Given the description of an element on the screen output the (x, y) to click on. 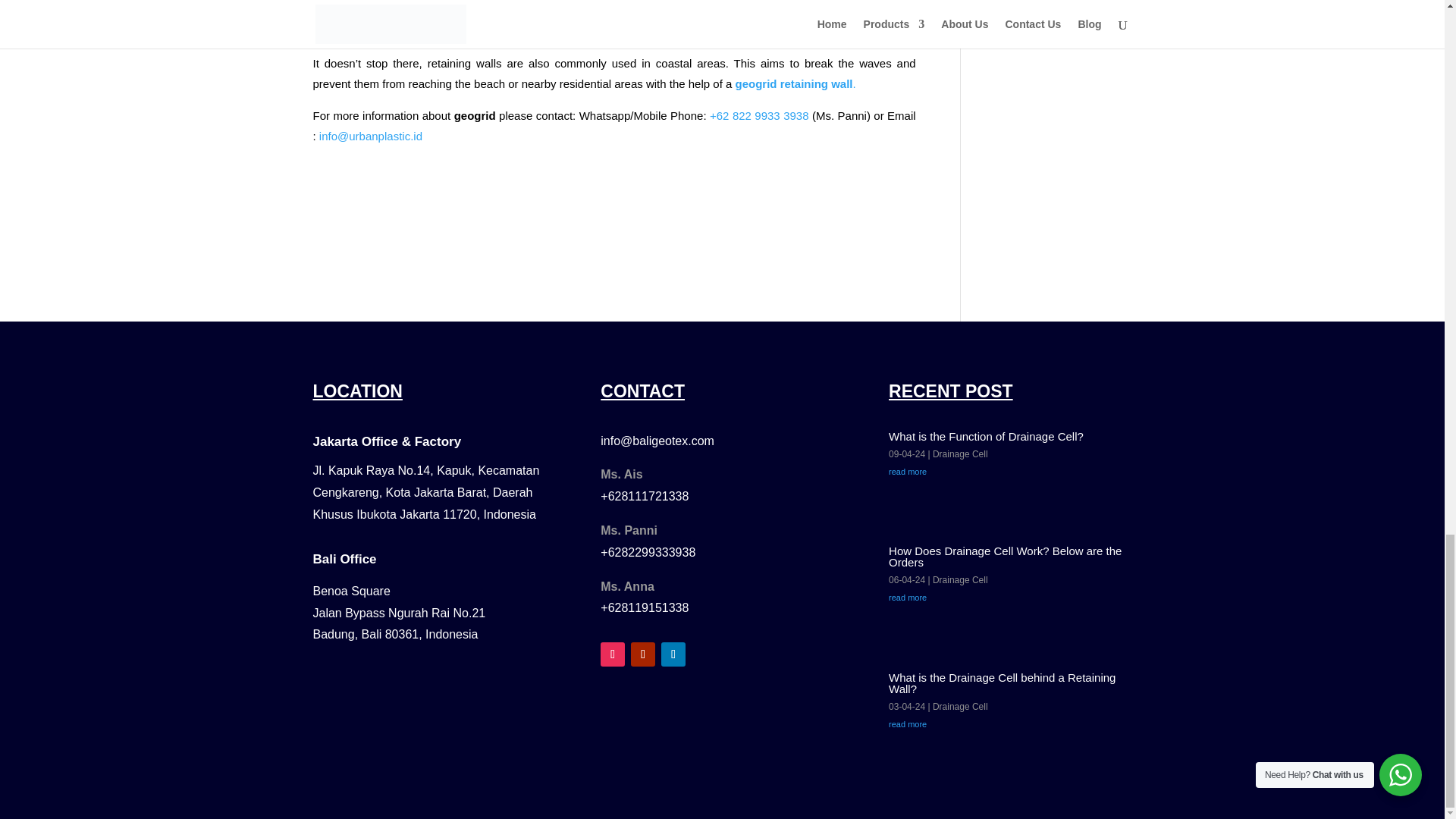
Follow on LinkedIn (673, 654)
geogrid retaining wall. (795, 83)
Follow on Youtube (642, 654)
Follow on Instagram (611, 654)
